Given the description of an element on the screen output the (x, y) to click on. 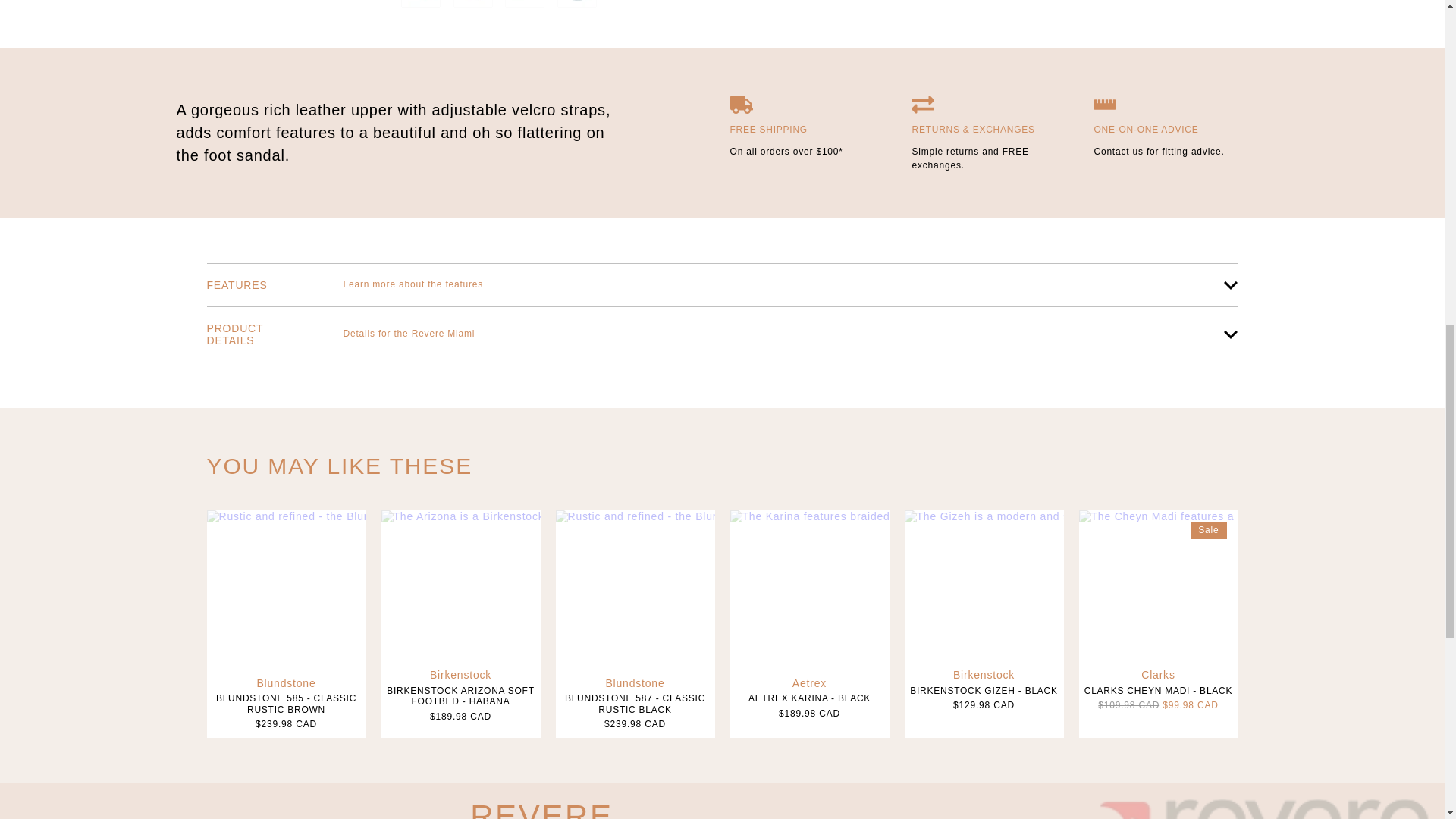
Revere Miami (578, 3)
Revere Miami (422, 3)
Revere Miami (526, 3)
Revere Miami (475, 3)
